Given the description of an element on the screen output the (x, y) to click on. 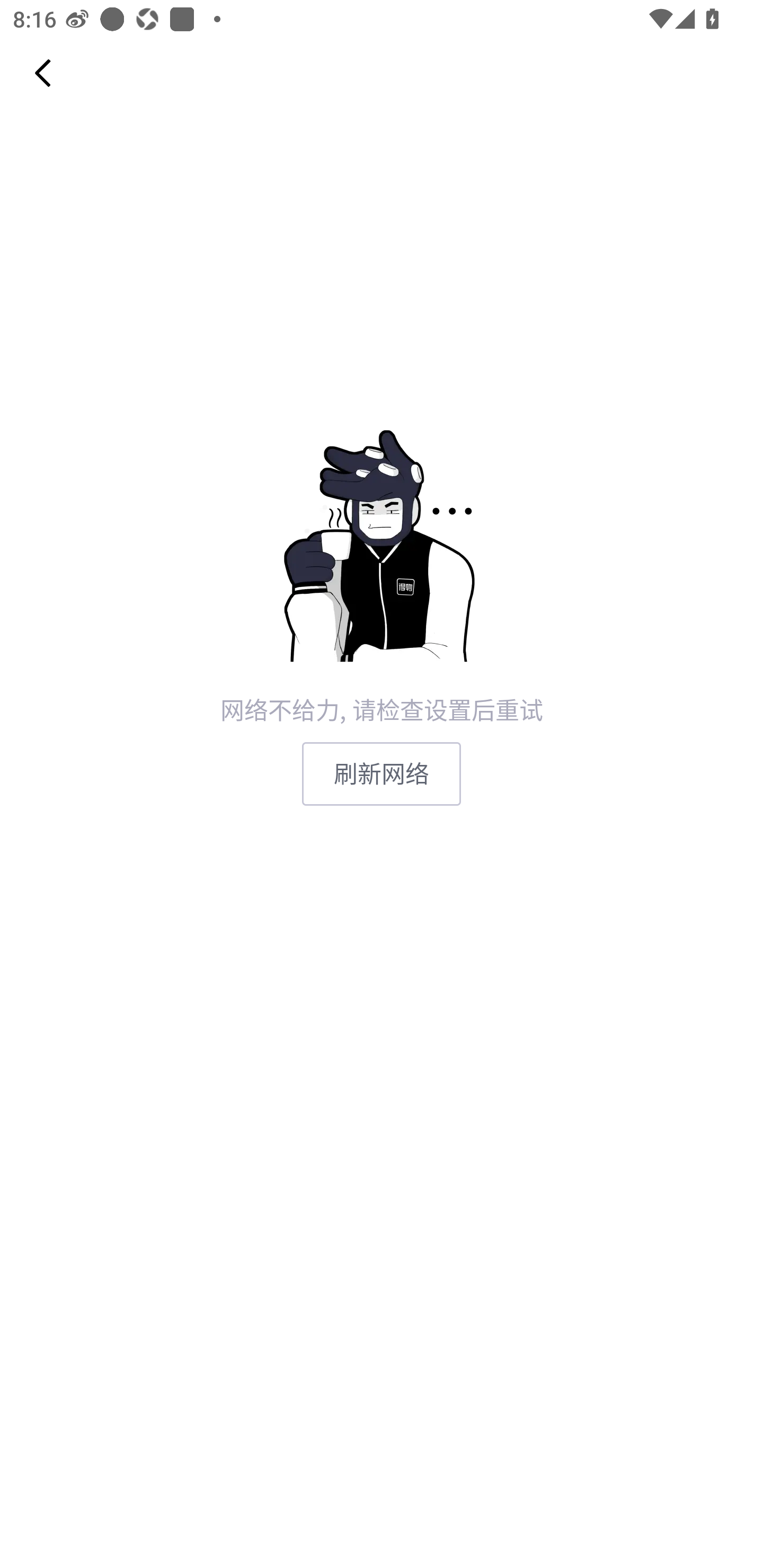
刷新网络 (381, 773)
